Given the description of an element on the screen output the (x, y) to click on. 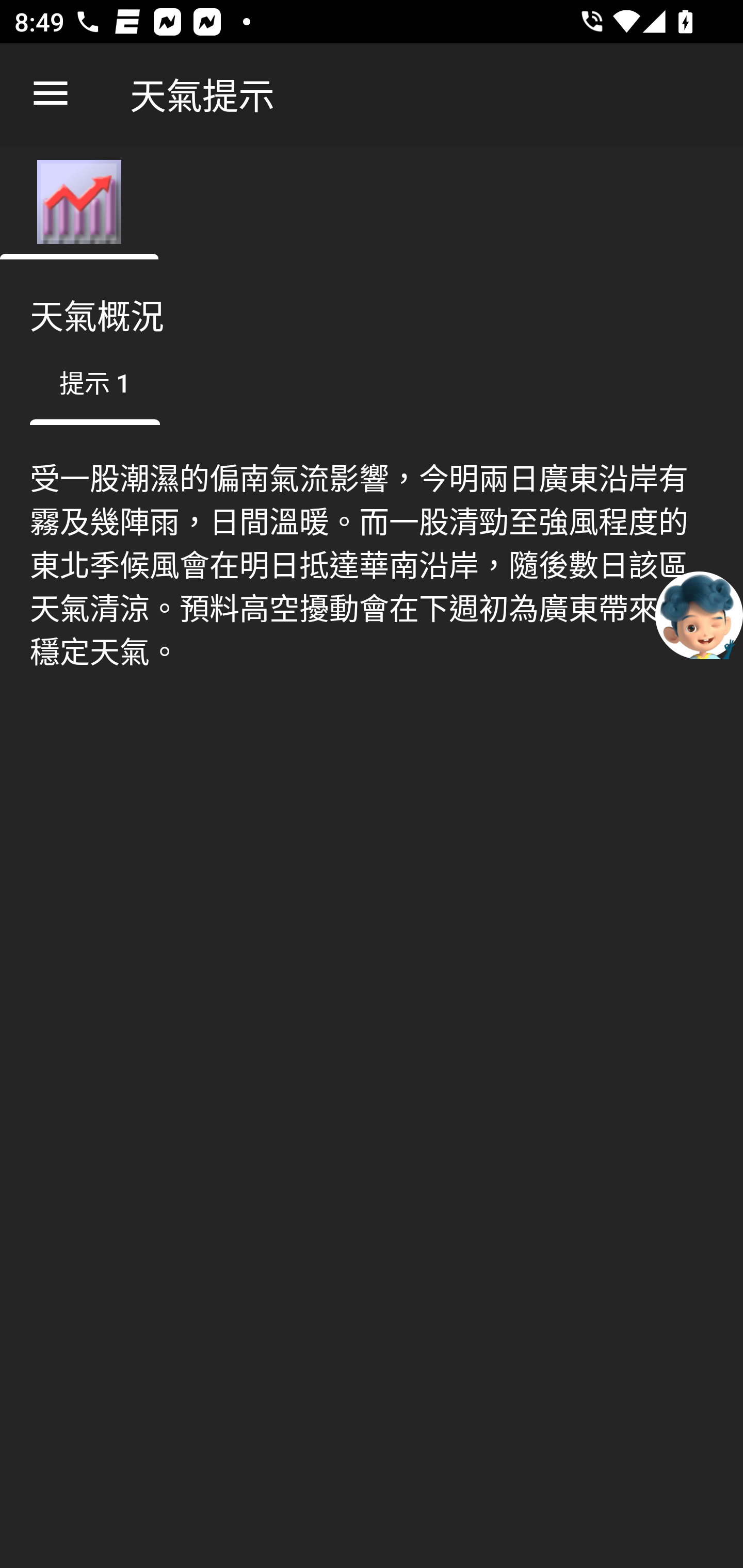
向上瀏覽 (50, 93)
聊天機械人 (699, 614)
